Given the description of an element on the screen output the (x, y) to click on. 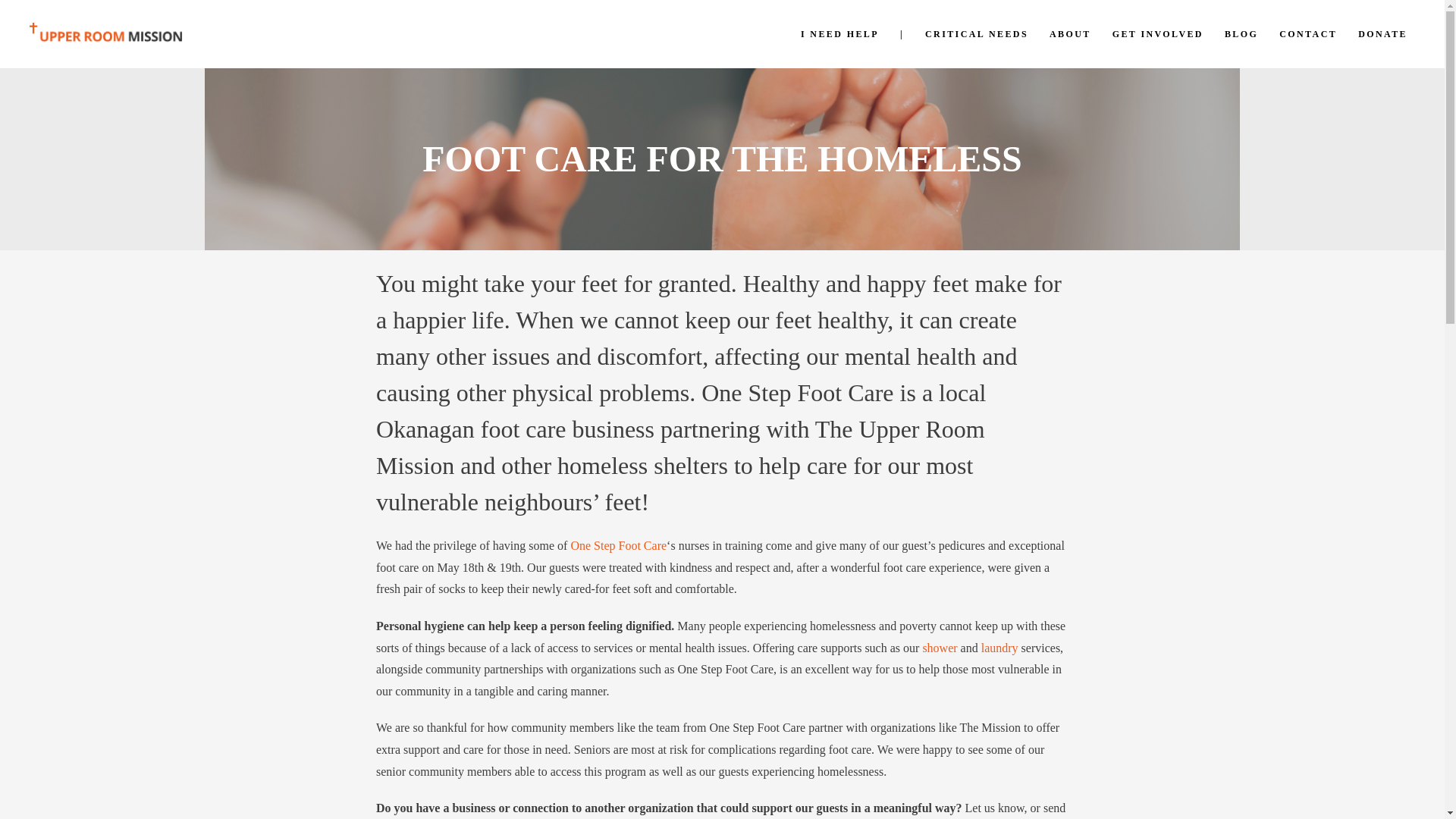
GET INVOLVED (1158, 33)
ABOUT (1070, 33)
CRITICAL NEEDS (976, 33)
CONTACT (1308, 33)
DONATE (1383, 33)
I NEED HELP (839, 33)
